Given the description of an element on the screen output the (x, y) to click on. 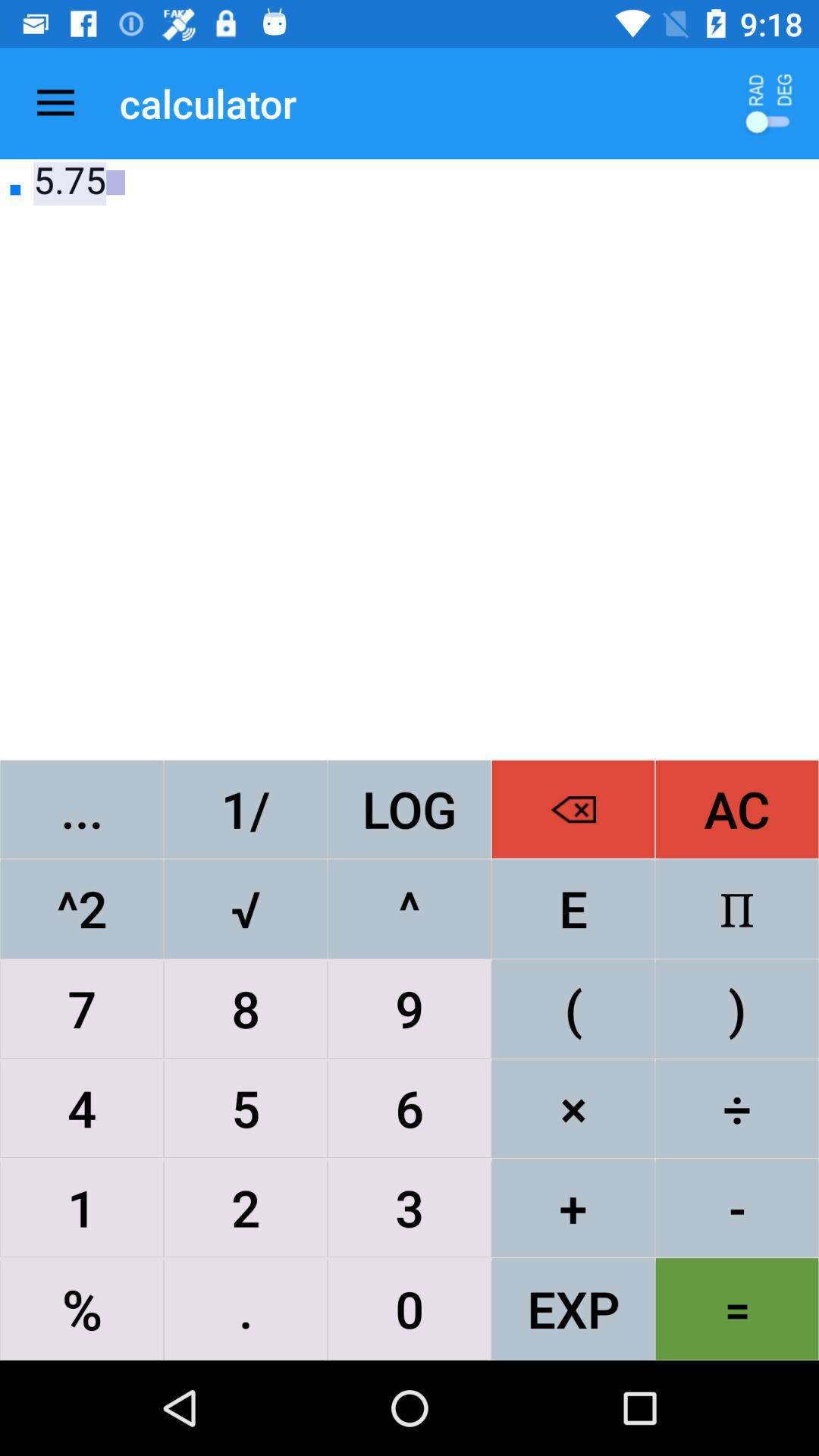
open the item above the 1 item (81, 1108)
